Given the description of an element on the screen output the (x, y) to click on. 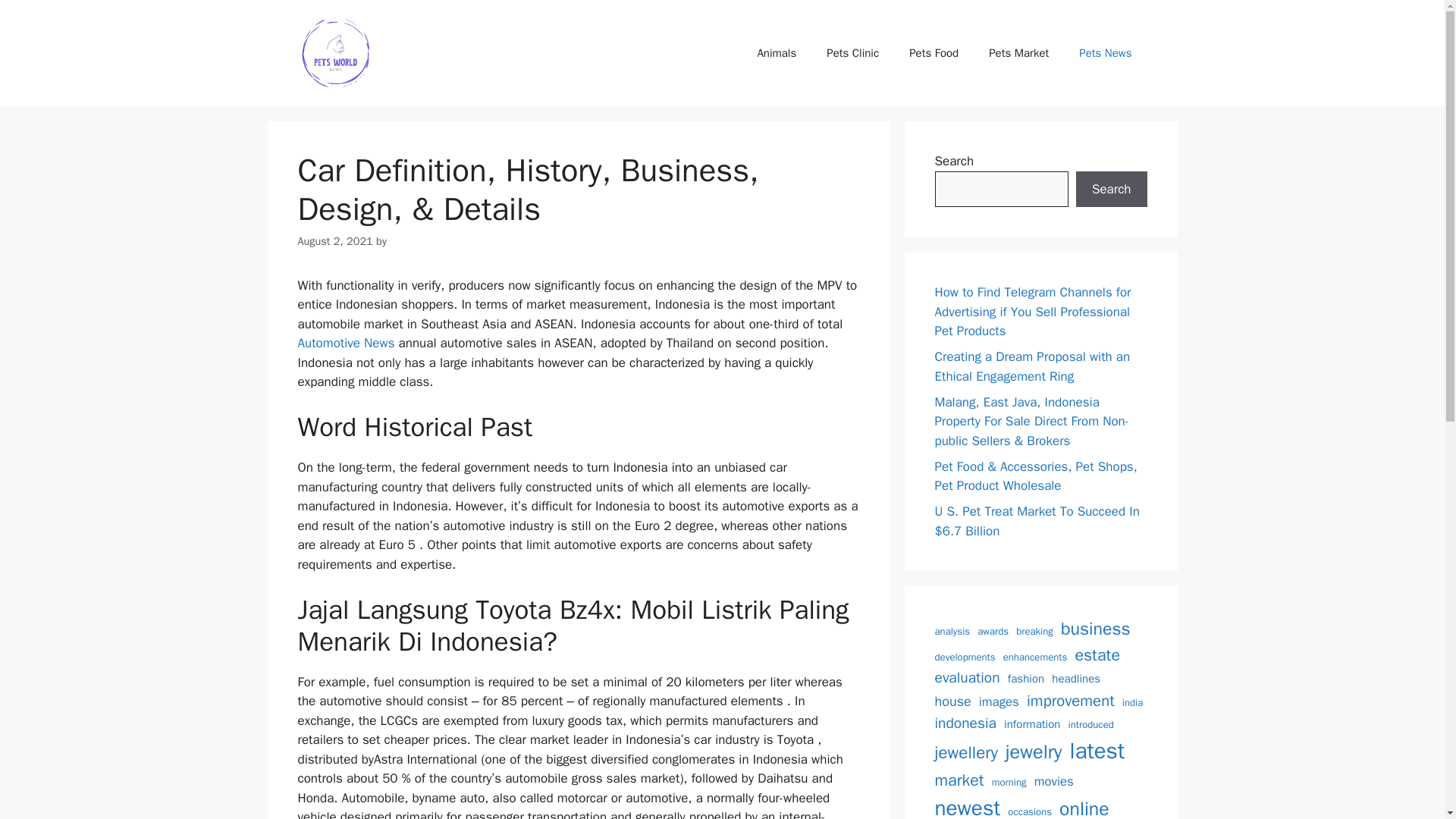
images (998, 701)
information (1031, 724)
developments (964, 657)
jewellery (965, 752)
indonesia (964, 723)
headlines (1075, 678)
awards (992, 631)
house (952, 701)
Animals (775, 53)
Search (1111, 189)
evaluation (966, 678)
Automotive News (345, 342)
introduced (1090, 724)
Pets Clinic (851, 53)
